Given the description of an element on the screen output the (x, y) to click on. 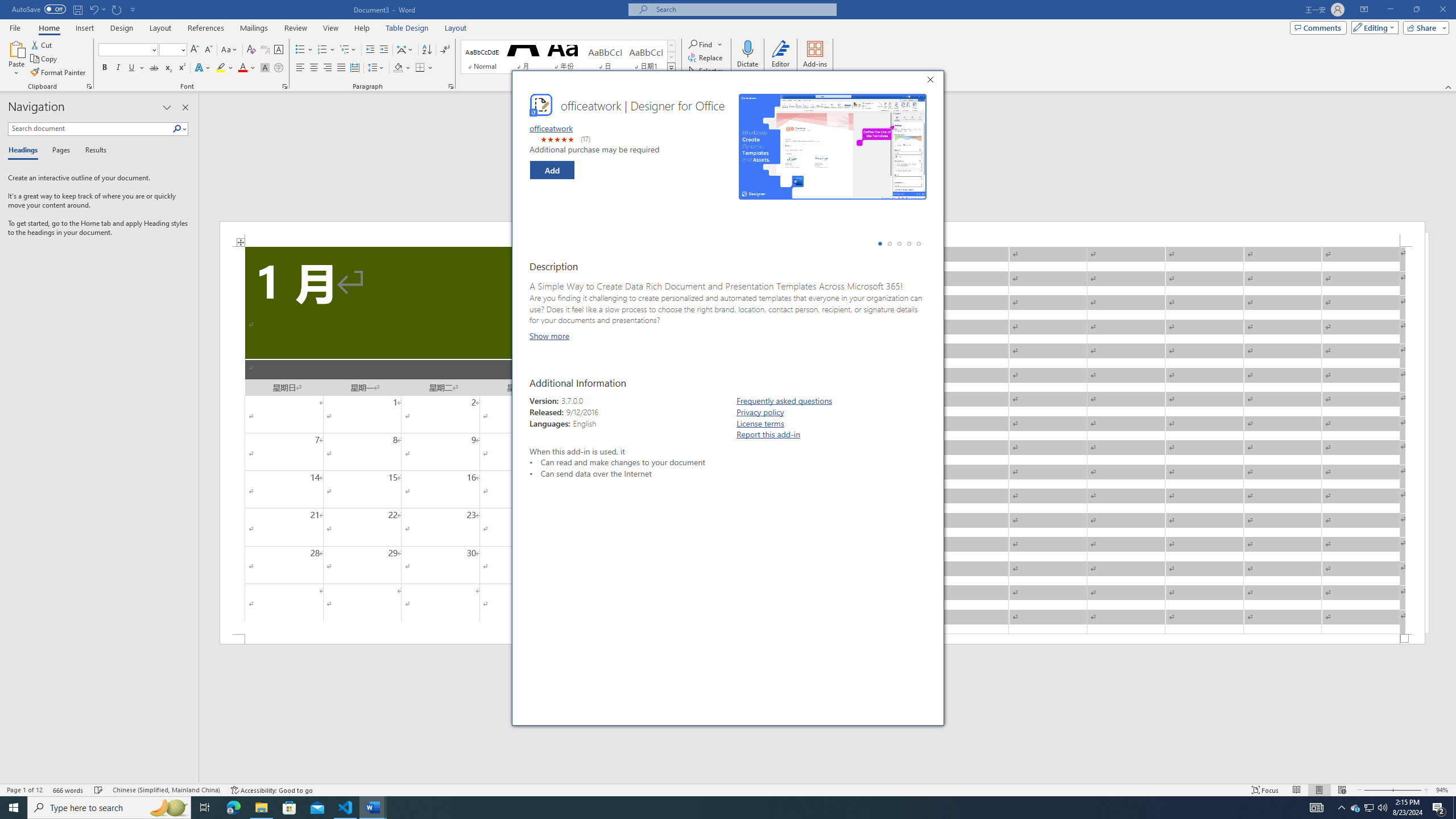
Screenshot #1 of 5 officeatwork | Designer for Office add-in (832, 146)
Go to screenshot 4 (909, 243)
Undo Grow Font (92, 9)
